Given the description of an element on the screen output the (x, y) to click on. 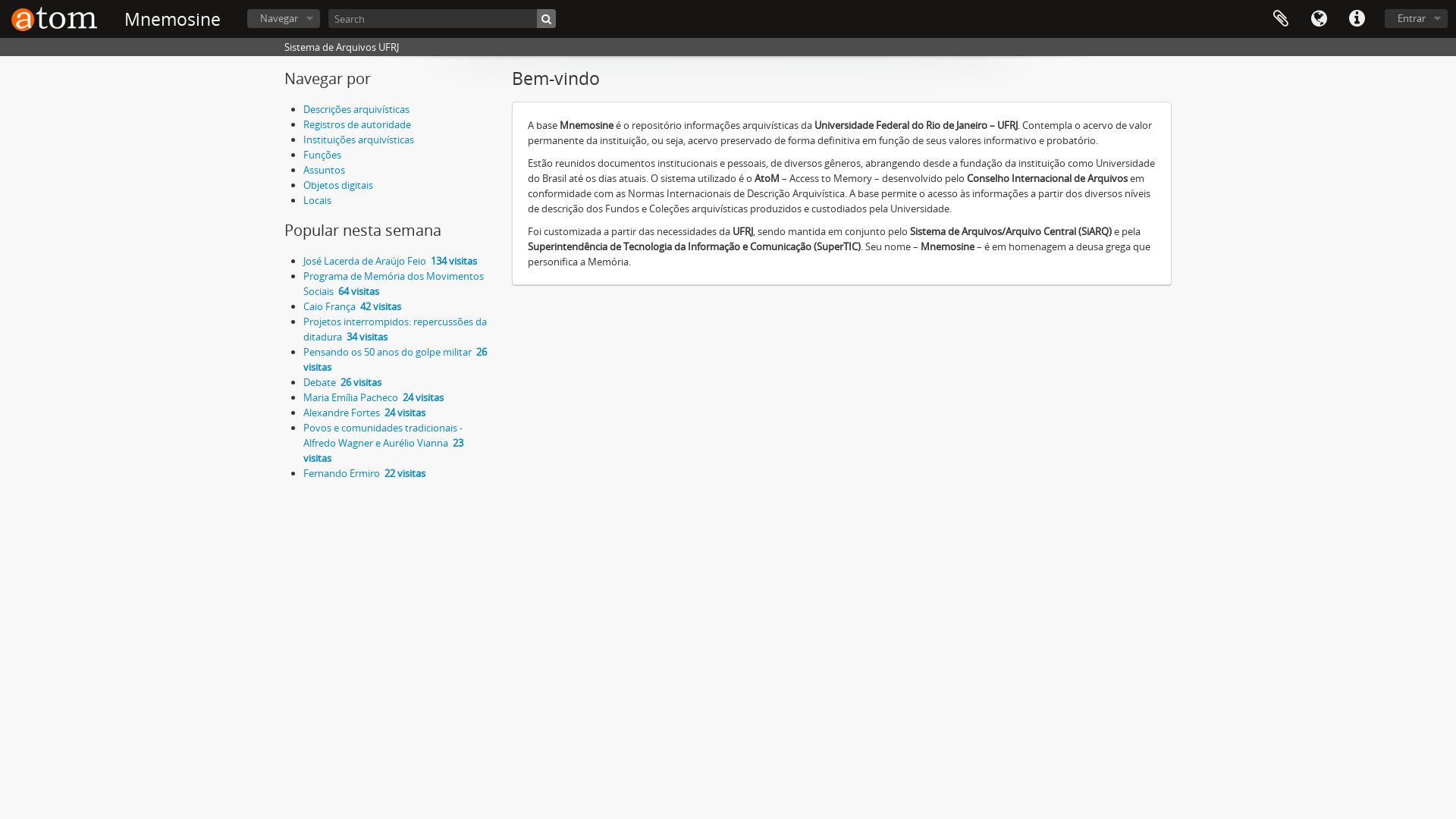
Mnemosine Element type: text (172, 19)
Entrar Element type: text (1415, 18)
Locais Element type: text (317, 200)
Atalhos Element type: text (1356, 18)
Pensando os 50 anos do golpe militar  26 visitas Element type: text (394, 359)
Navegar Element type: text (283, 18)
Alexandre Fortes  24 visitas Element type: text (364, 412)
Fernando Ermiro  22 visitas Element type: text (364, 473)
Assuntos Element type: text (324, 169)
Debate  26 visitas Element type: text (342, 382)
Objetos digitais Element type: text (338, 184)
Idioma Element type: text (1318, 18)
Registros de autoridade Element type: text (357, 124)
